Given the description of an element on the screen output the (x, y) to click on. 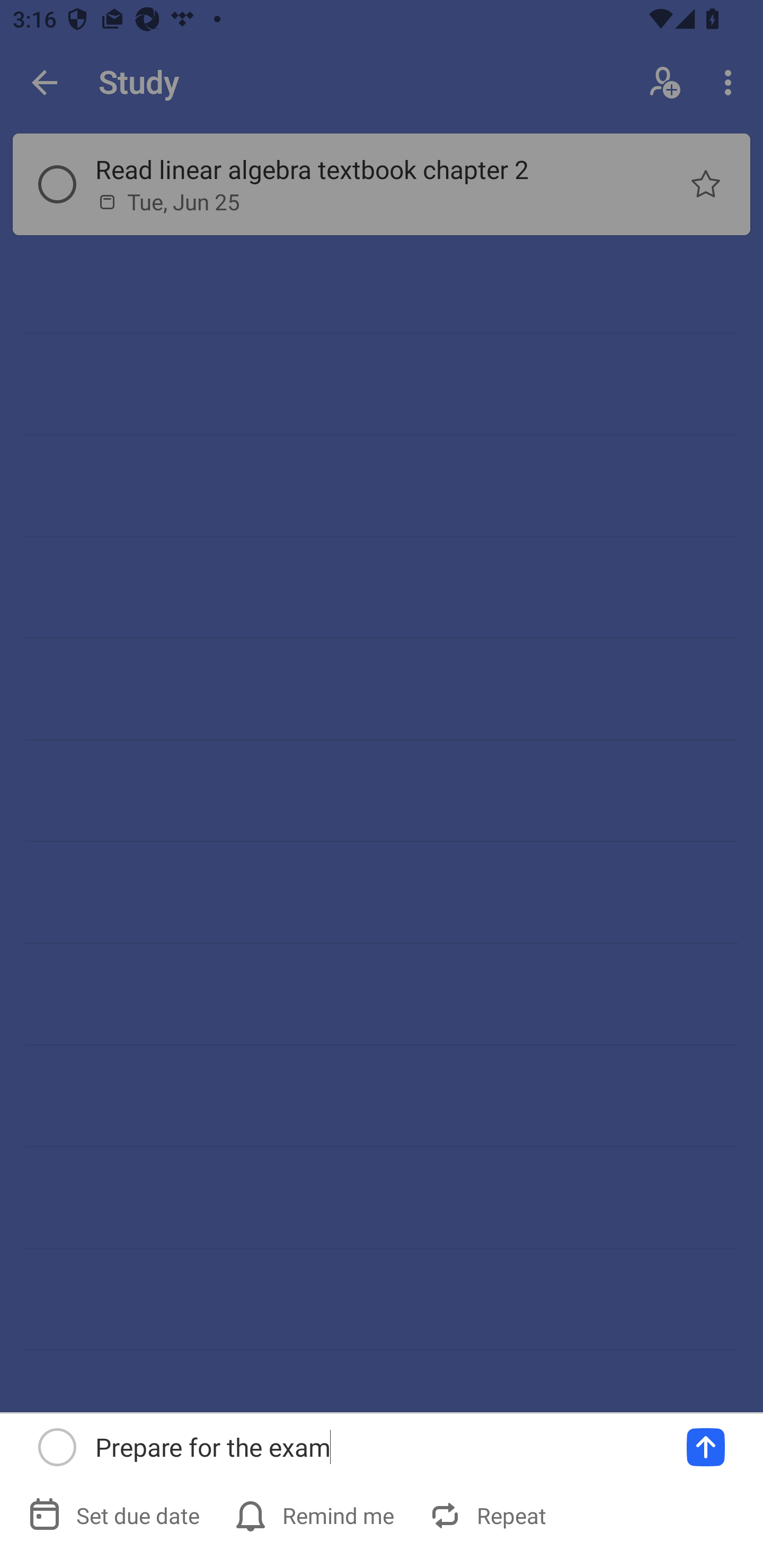
Set due date (115, 1515)
